Given the description of an element on the screen output the (x, y) to click on. 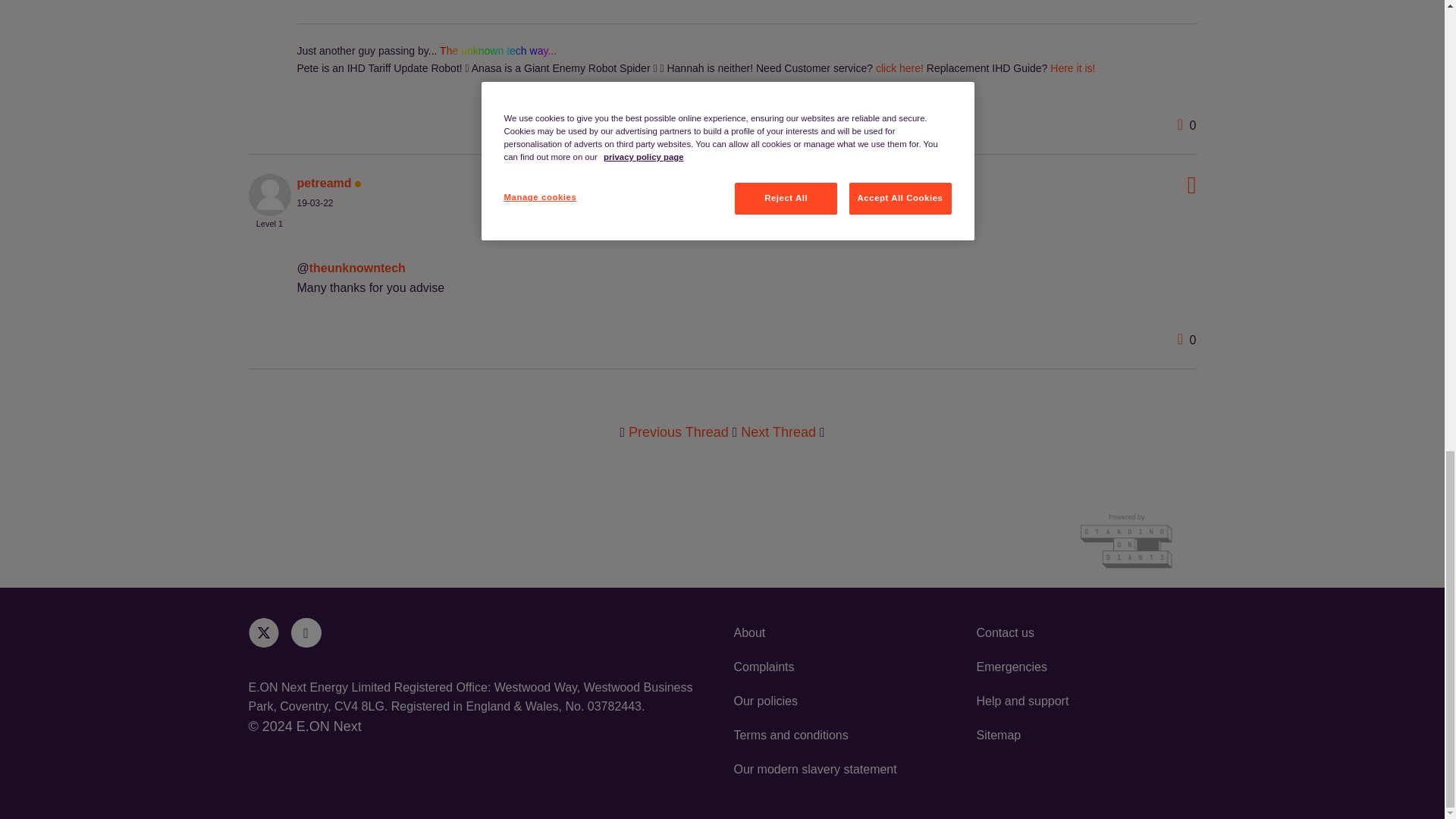
petreamd is offline (269, 193)
petreamd's Avatar (269, 194)
petreamd is offline (324, 182)
